Given the description of an element on the screen output the (x, y) to click on. 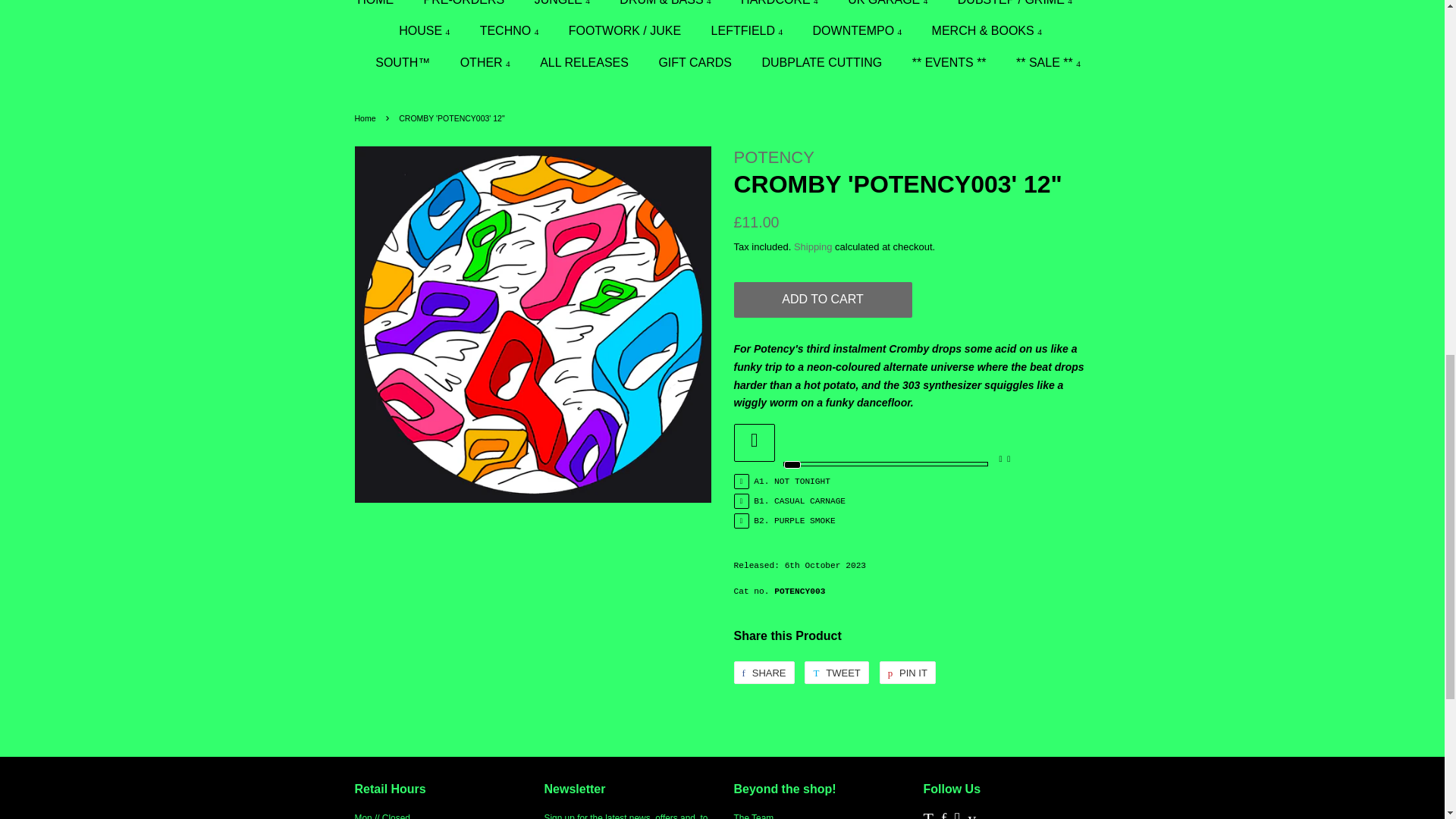
Share on Facebook (763, 671)
Tweet on Twitter (836, 671)
Back to the frontpage (367, 117)
Pin on Pinterest (907, 671)
Potency (773, 157)
Planet Wax on Twitter (928, 817)
